Given the description of an element on the screen output the (x, y) to click on. 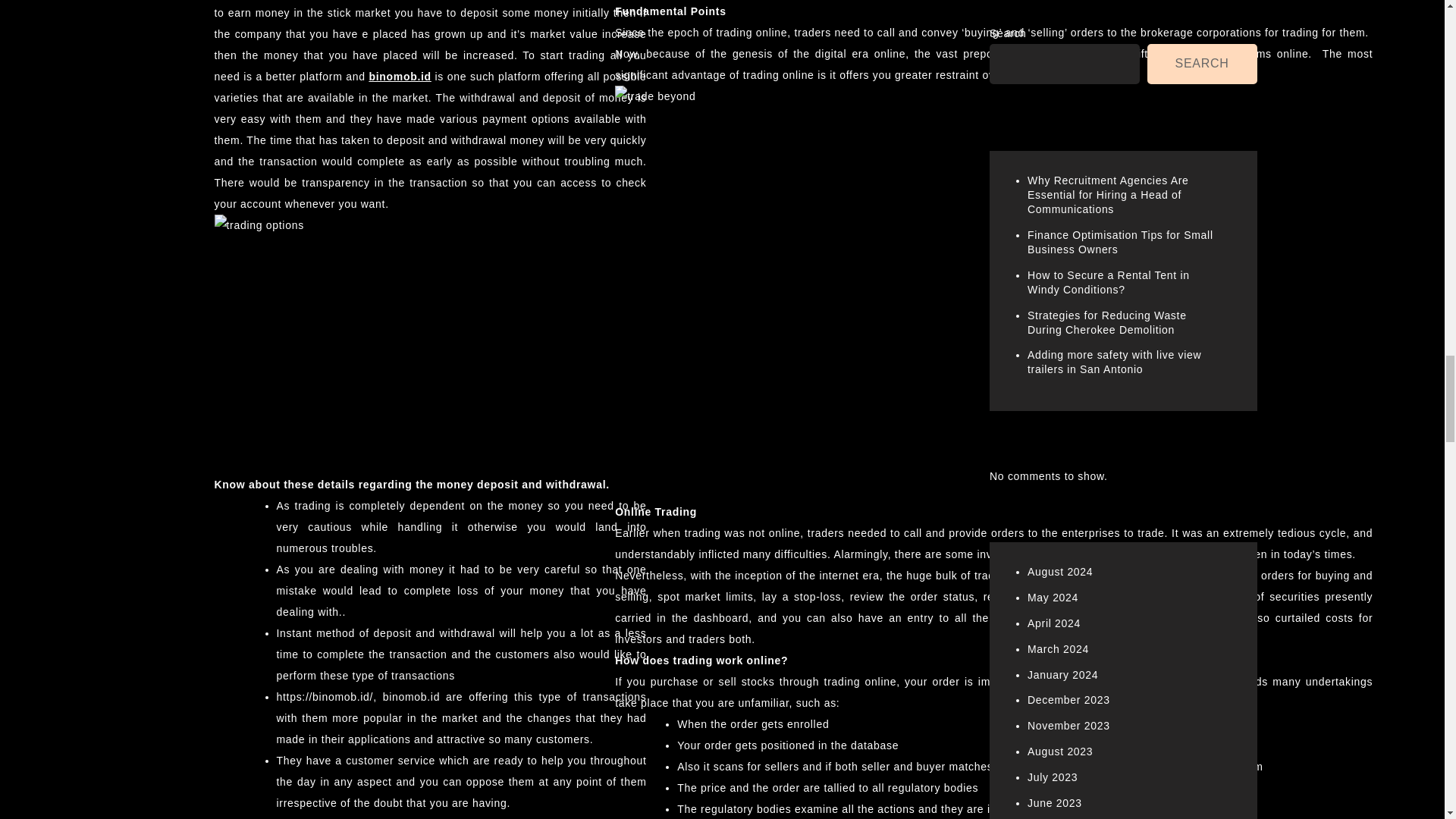
binomob.id (399, 76)
